Given the description of an element on the screen output the (x, y) to click on. 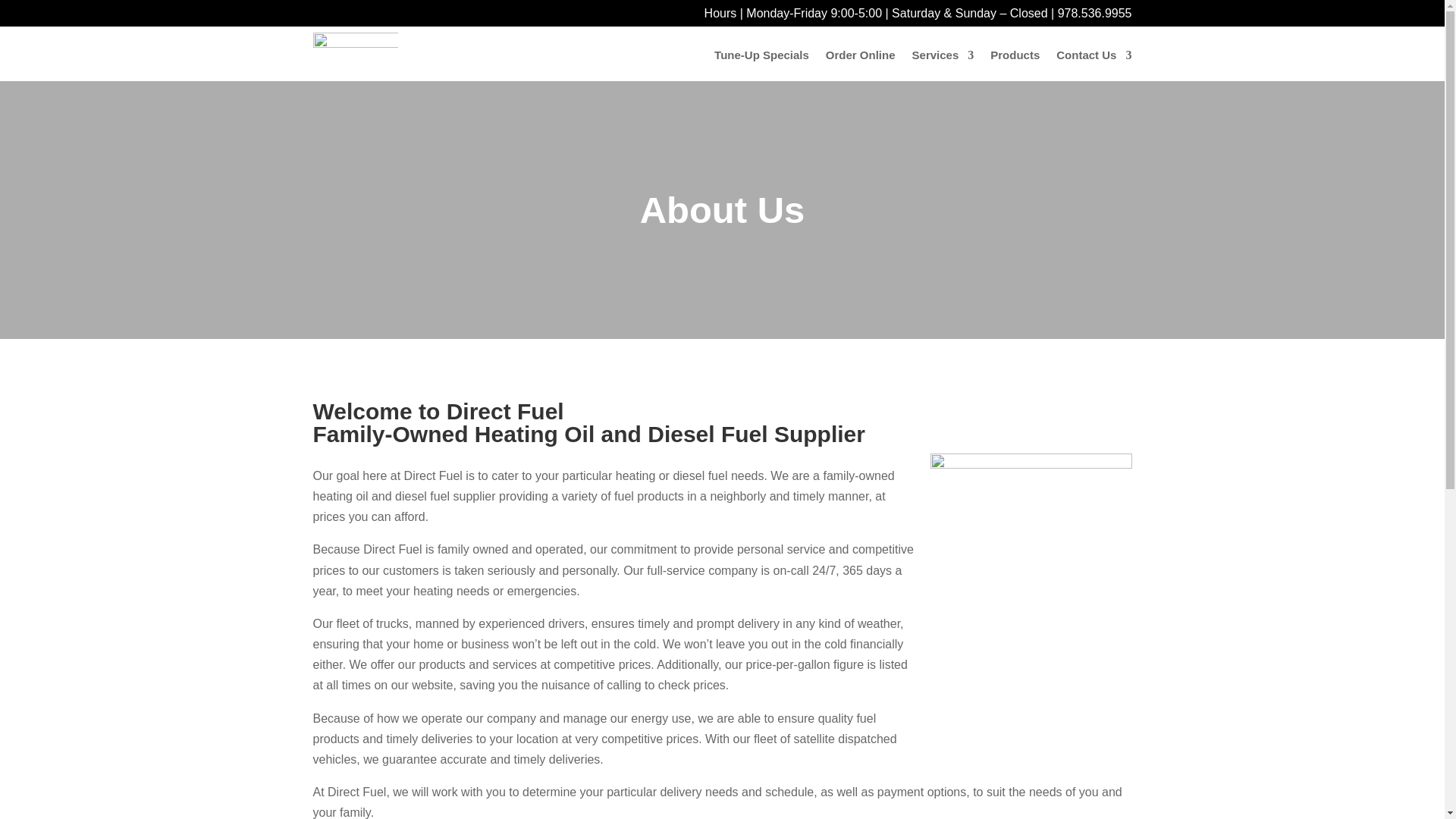
Services (943, 57)
Contact Us (1094, 57)
Tune-Up Specials (761, 57)
Order Online (860, 57)
Products (1014, 57)
directfuel-logo (355, 51)
